Given the description of an element on the screen output the (x, y) to click on. 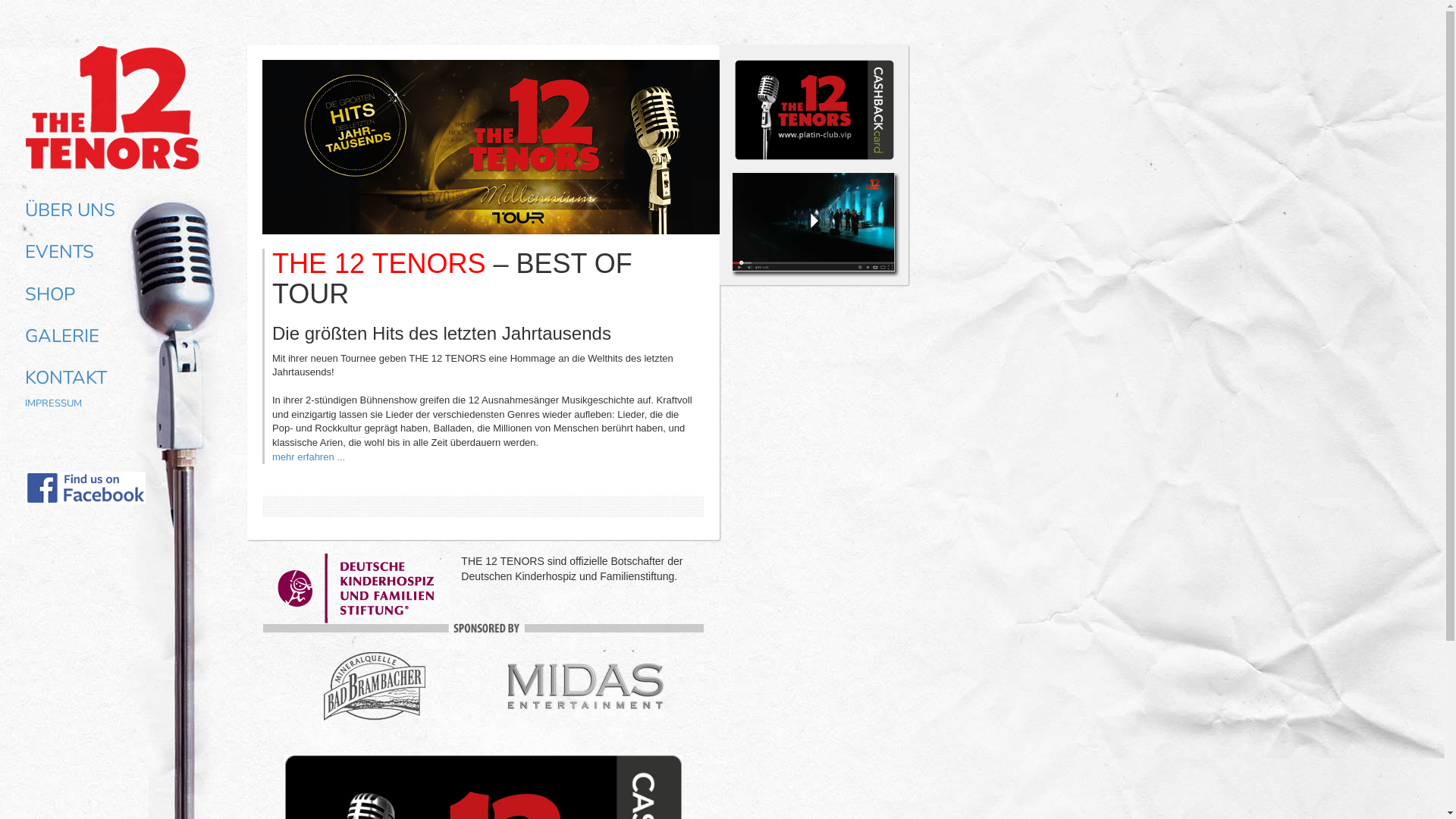
IMPRESSUM Element type: text (51, 402)
KONTAKT Element type: text (57, 377)
EVENTS Element type: text (51, 251)
SHOP Element type: text (41, 294)
GALERIE Element type: text (53, 335)
mehr erfahren ... Element type: text (308, 456)
